Given the description of an element on the screen output the (x, y) to click on. 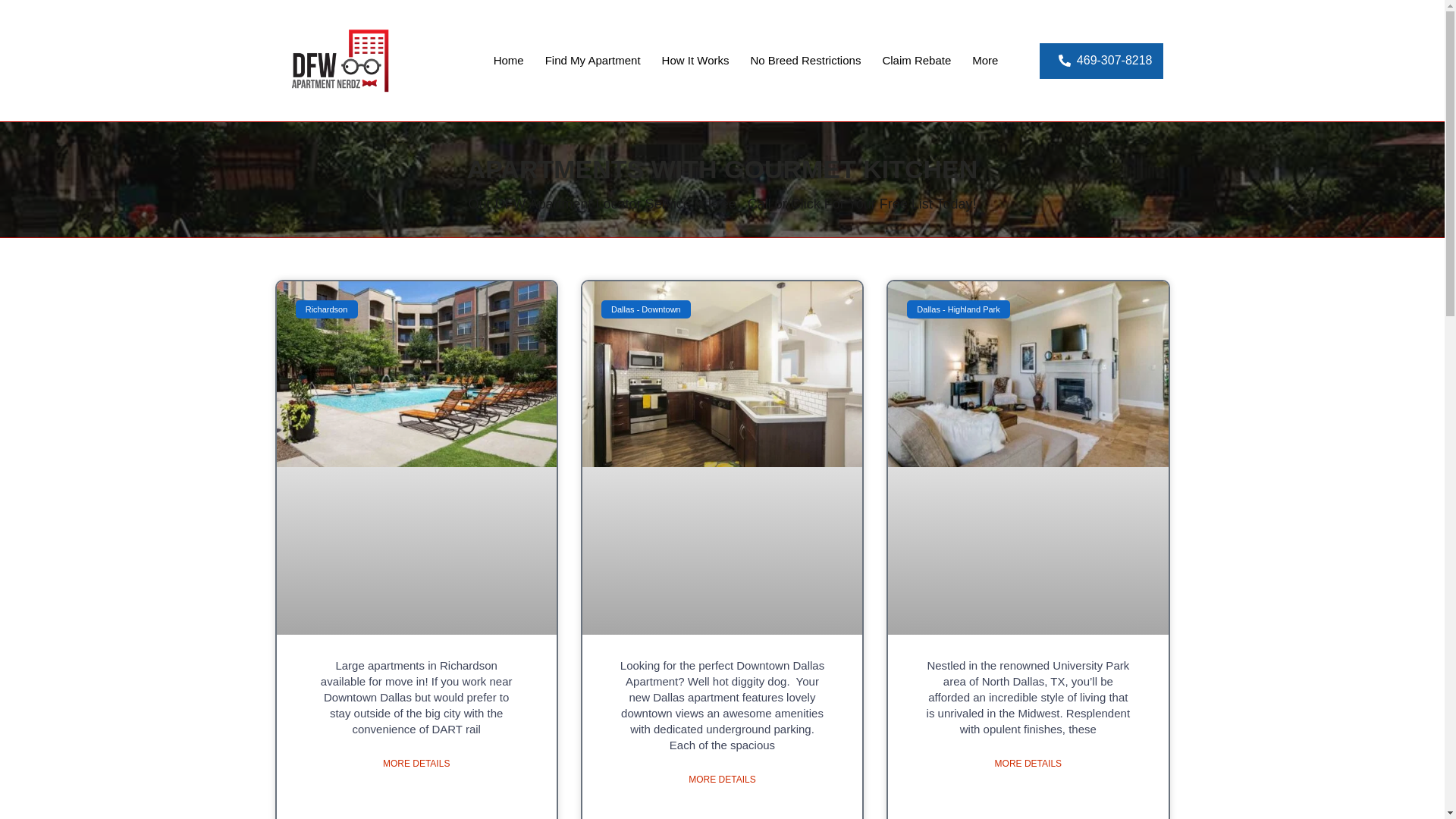
More Options (984, 60)
MORE DETAILS (721, 779)
Claim Rebate (915, 60)
Find My Apartment (592, 60)
More (984, 60)
Home (508, 60)
469-307-8218 (1101, 59)
About Apartment Locating (694, 60)
Apartment Rent Rebates (915, 60)
How It Works (694, 60)
